Given the description of an element on the screen output the (x, y) to click on. 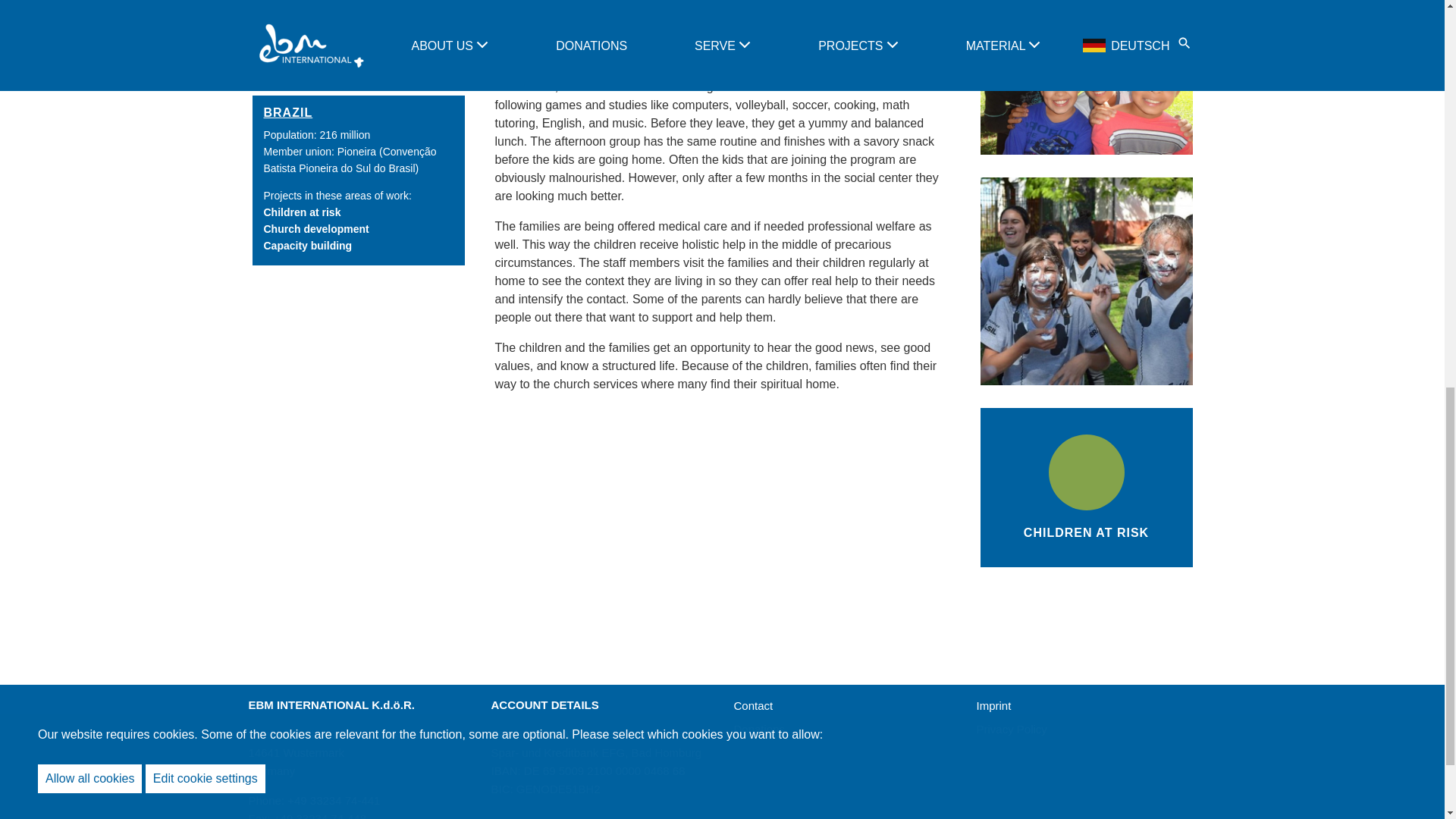
Donations (759, 728)
Contact (753, 705)
Contact (753, 705)
Donations (759, 728)
BRAZIL (288, 112)
CHILDREN AT RISK (1085, 487)
DONATE NOW (357, 36)
Imprint (993, 705)
Privacy Policy (1011, 728)
